Given the description of an element on the screen output the (x, y) to click on. 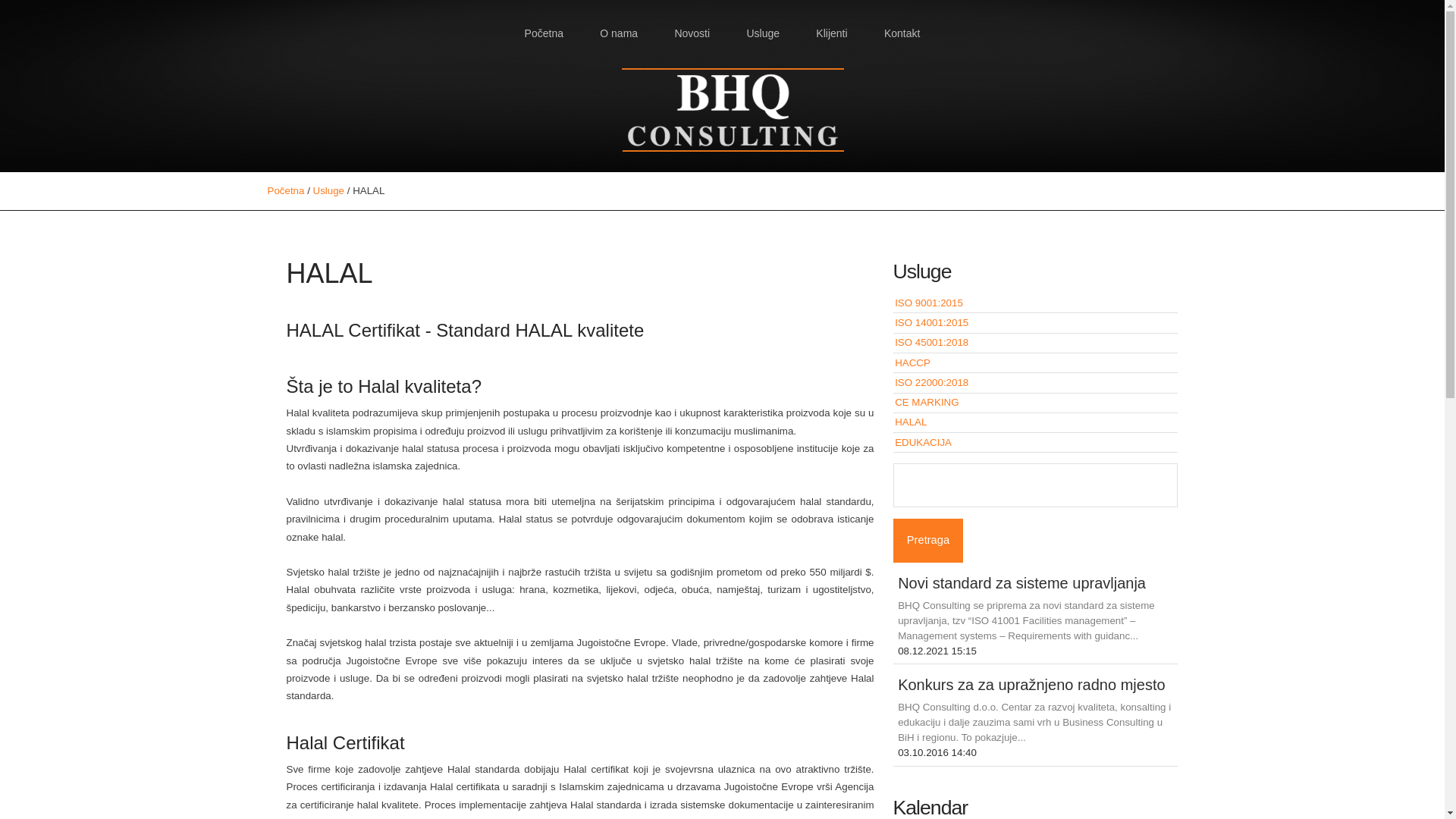
Pretraga Element type: text (928, 540)
ISO 45001:2018 Element type: text (931, 342)
Kontakt Element type: text (901, 33)
Usluge Element type: text (763, 33)
ISO 14001:2015 Element type: text (931, 322)
Klijenti Element type: text (831, 33)
CE MARKING Element type: text (926, 401)
O nama Element type: text (618, 33)
ISO 9001:2015 Element type: text (928, 302)
EDUKACIJA Element type: text (922, 442)
HALAL Element type: text (910, 421)
Novosti Element type: text (692, 33)
ISO 22000:2018 Element type: text (931, 382)
HACCP Element type: text (912, 362)
Usluge Element type: text (329, 190)
